Given the description of an element on the screen output the (x, y) to click on. 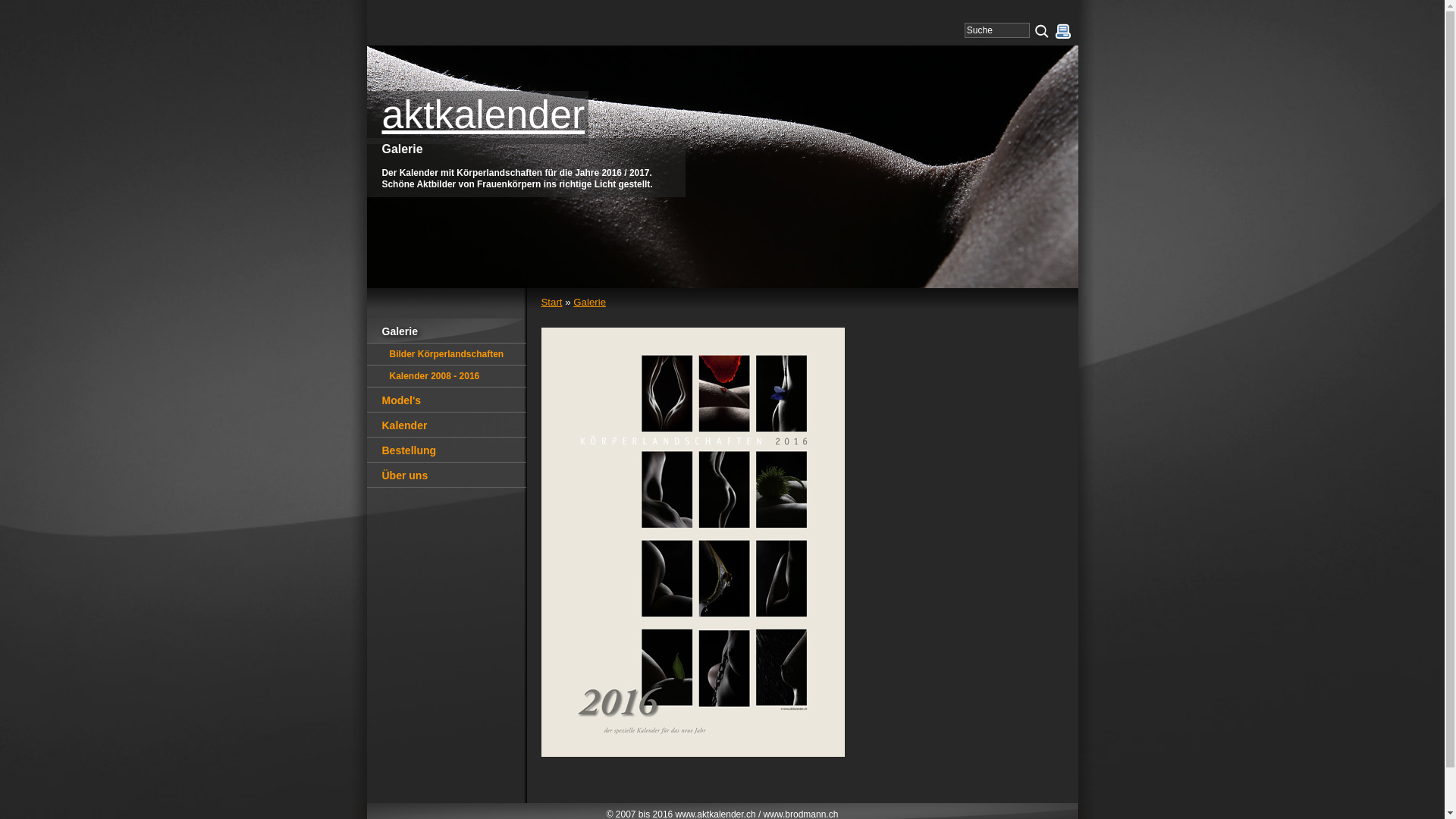
aktkalender Element type: text (478, 116)
Model's Element type: text (446, 399)
Start Element type: text (551, 301)
Kalender 2008 - 2016 Element type: text (446, 376)
Galerie Element type: text (589, 301)
Bestellung Element type: text (446, 449)
Kalender Element type: text (446, 424)
Galerie Element type: text (446, 330)
